Given the description of an element on the screen output the (x, y) to click on. 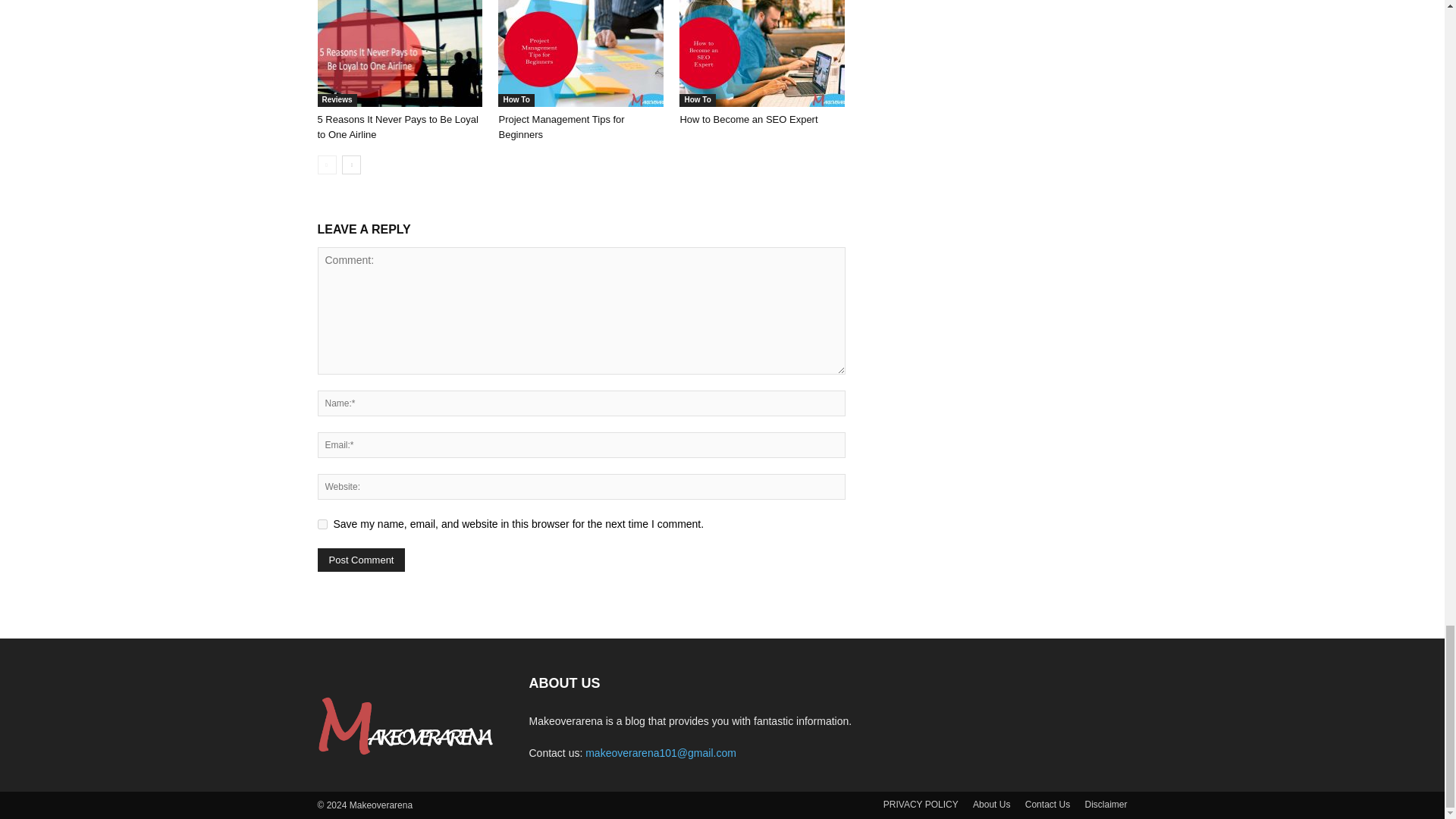
yes (321, 524)
Post Comment (360, 559)
5 Reasons It Never Pays to Be Loyal to One Airline (397, 126)
5 Reasons It Never Pays to Be Loyal to One Airline (399, 53)
Project Management Tips for Beginners (580, 53)
